Given the description of an element on the screen output the (x, y) to click on. 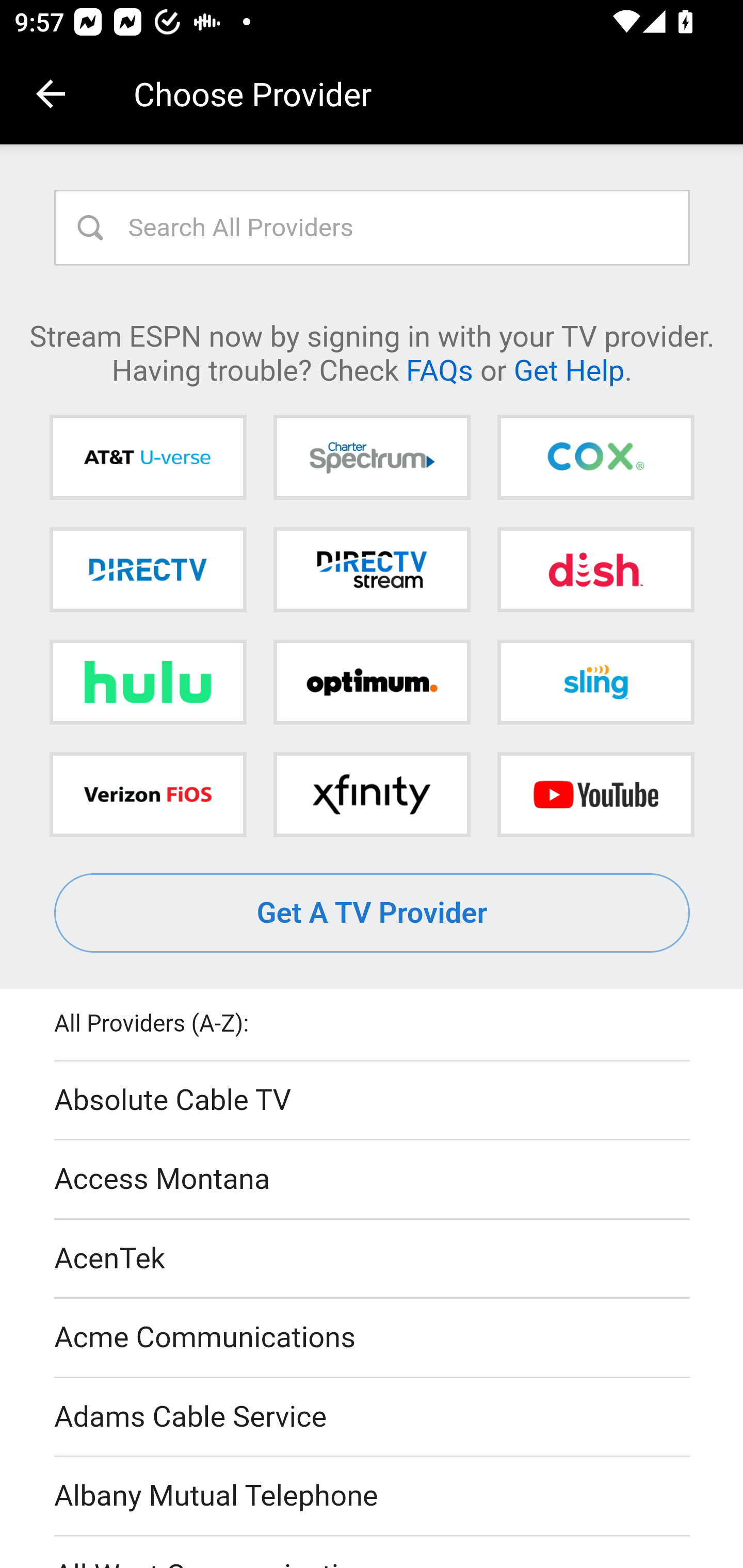
Navigate up (50, 93)
FAQs (438, 369)
Get Help (569, 369)
AT&T U-verse (147, 457)
Charter Spectrum (371, 457)
Cox (595, 457)
DIRECTV (147, 568)
DIRECTV STREAM (371, 568)
DISH (595, 568)
Hulu (147, 681)
Optimum (371, 681)
Sling TV (595, 681)
Verizon FiOS (147, 793)
Xfinity (371, 793)
YouTube TV (595, 793)
Get A TV Provider (372, 912)
Absolute Cable TV (372, 1100)
Access Montana (372, 1178)
AcenTek (372, 1258)
Acme Communications (372, 1338)
Adams Cable Service (372, 1417)
Albany Mutual Telephone (372, 1497)
